Given the description of an element on the screen output the (x, y) to click on. 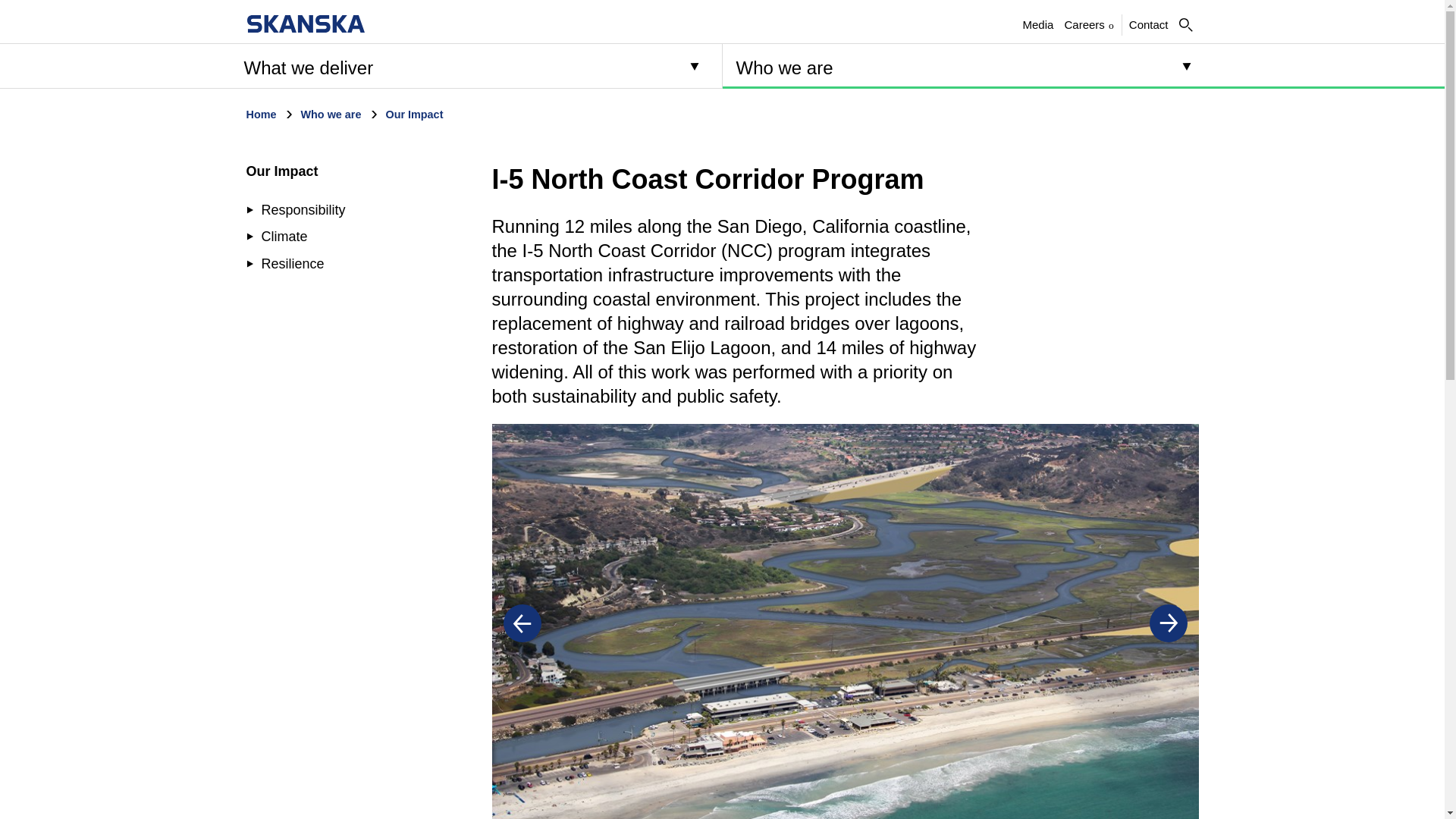
Our Impact (281, 171)
Media (1037, 24)
Skanska in the US (361, 65)
Contact (1149, 24)
Careers (305, 24)
